Given the description of an element on the screen output the (x, y) to click on. 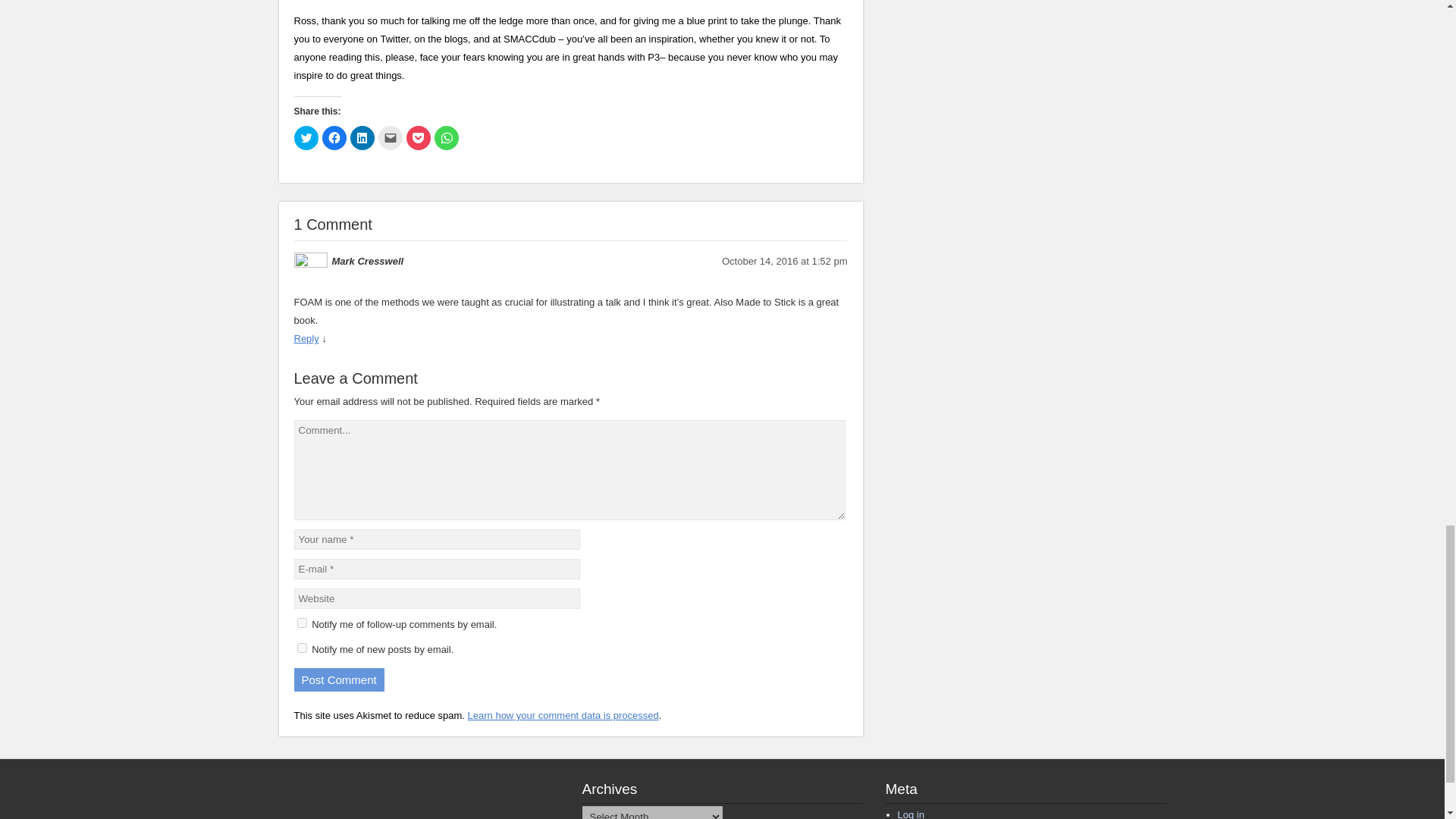
subscribe (302, 647)
Reply (306, 337)
Click to email a link to a friend (389, 137)
Click to share on Facebook (333, 137)
subscribe (302, 623)
Click to share on WhatsApp (445, 137)
Click to share on Twitter (306, 137)
Click to share on LinkedIn (362, 137)
Post Comment (339, 679)
Click to share on Pocket (418, 137)
